Given the description of an element on the screen output the (x, y) to click on. 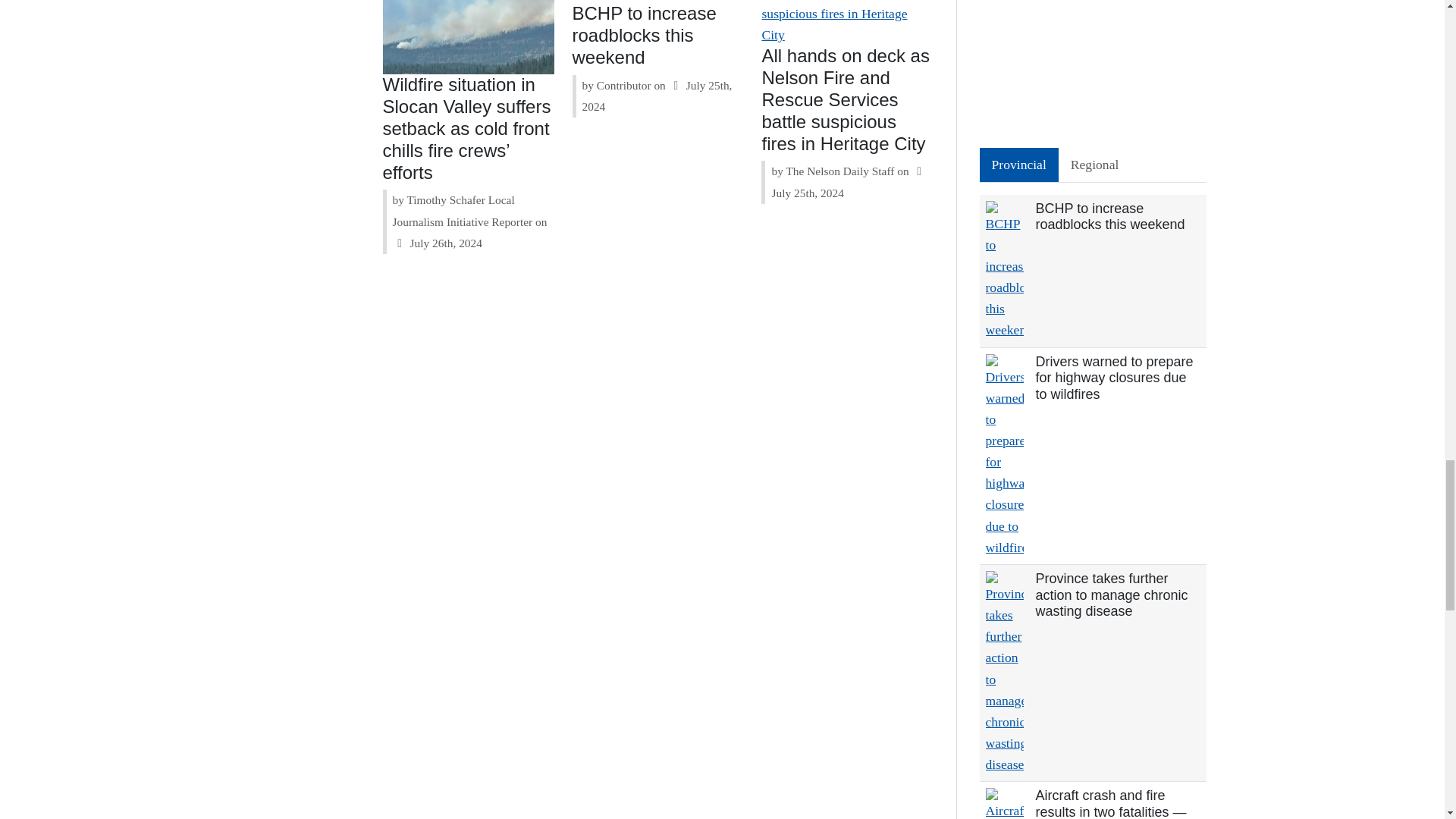
BCHP to increase roadblocks this weekend (644, 35)
3rd party ad content (1093, 64)
